Given the description of an element on the screen output the (x, y) to click on. 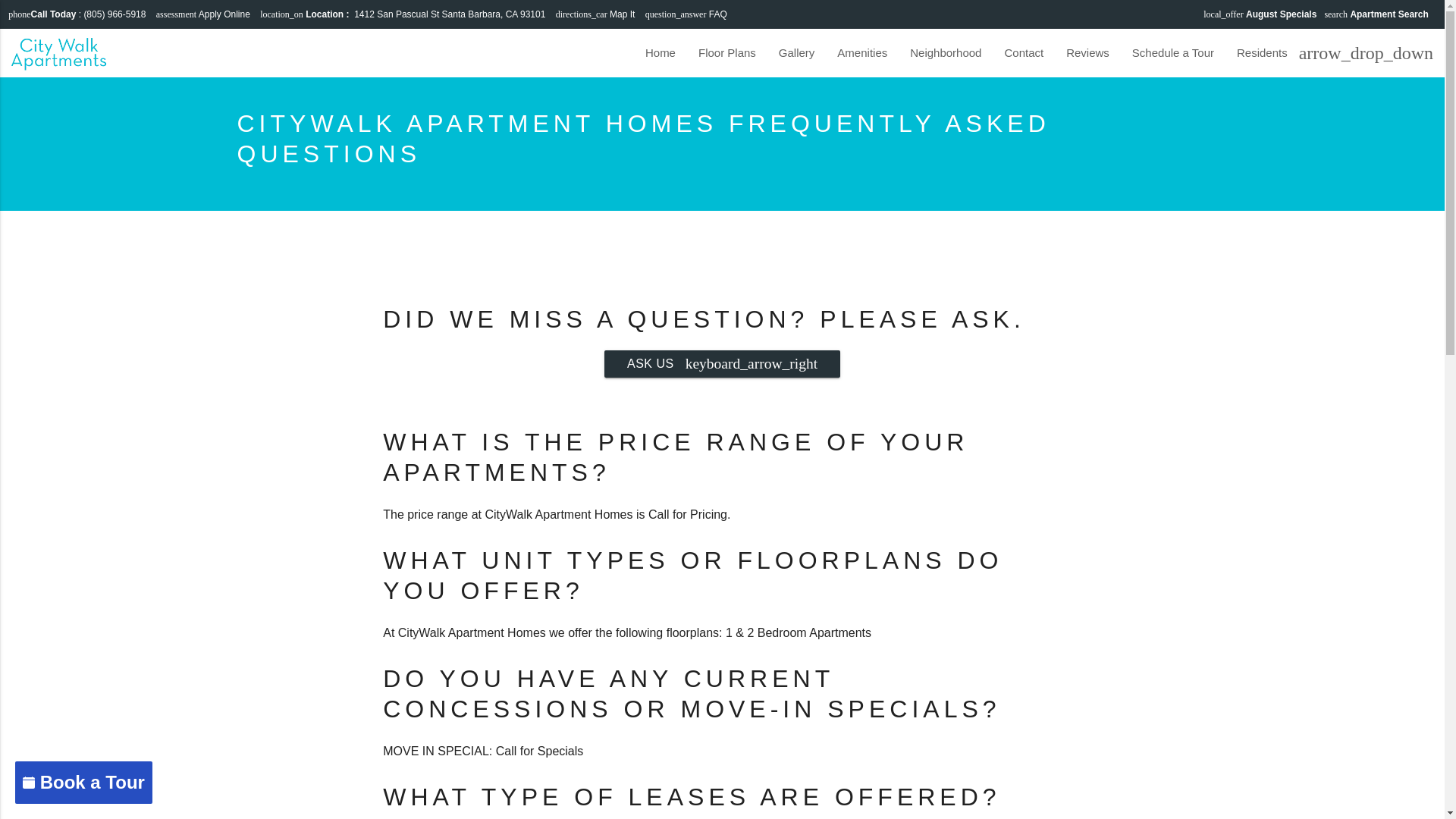
Reviews (1087, 52)
Floor Plans (727, 52)
Location :  1412 San Pascual St Santa Barbara, CA 93101 (424, 14)
Amenities (861, 52)
Neighborhood (945, 52)
Apartment Search (1388, 14)
August Specials (1281, 14)
Gallery (797, 52)
Map It (622, 14)
Schedule a Tour (1173, 52)
